Given the description of an element on the screen output the (x, y) to click on. 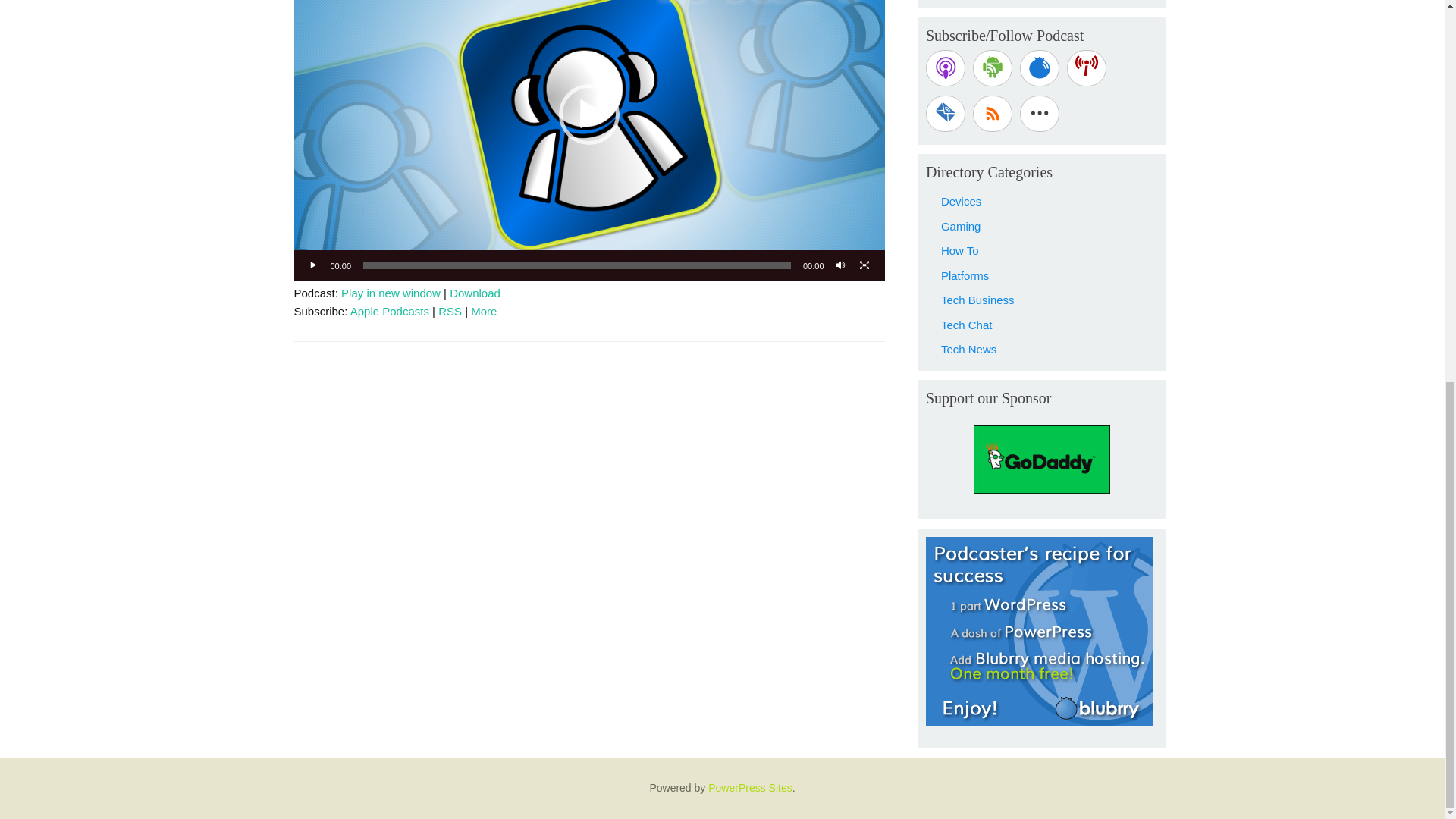
Fullscreen (864, 264)
Subscribe via RSS (991, 113)
Subscribe on Android (991, 67)
Mute (839, 264)
Subscribe on Podcast Index (1086, 67)
Play in new window (390, 292)
Download (474, 292)
Subscribe on Apple Podcasts (945, 67)
Download (474, 292)
Subscribe on Blubrry (1039, 67)
More (483, 310)
Play in new window (390, 292)
Apple Podcasts (389, 310)
More (483, 310)
Play (313, 264)
